Given the description of an element on the screen output the (x, y) to click on. 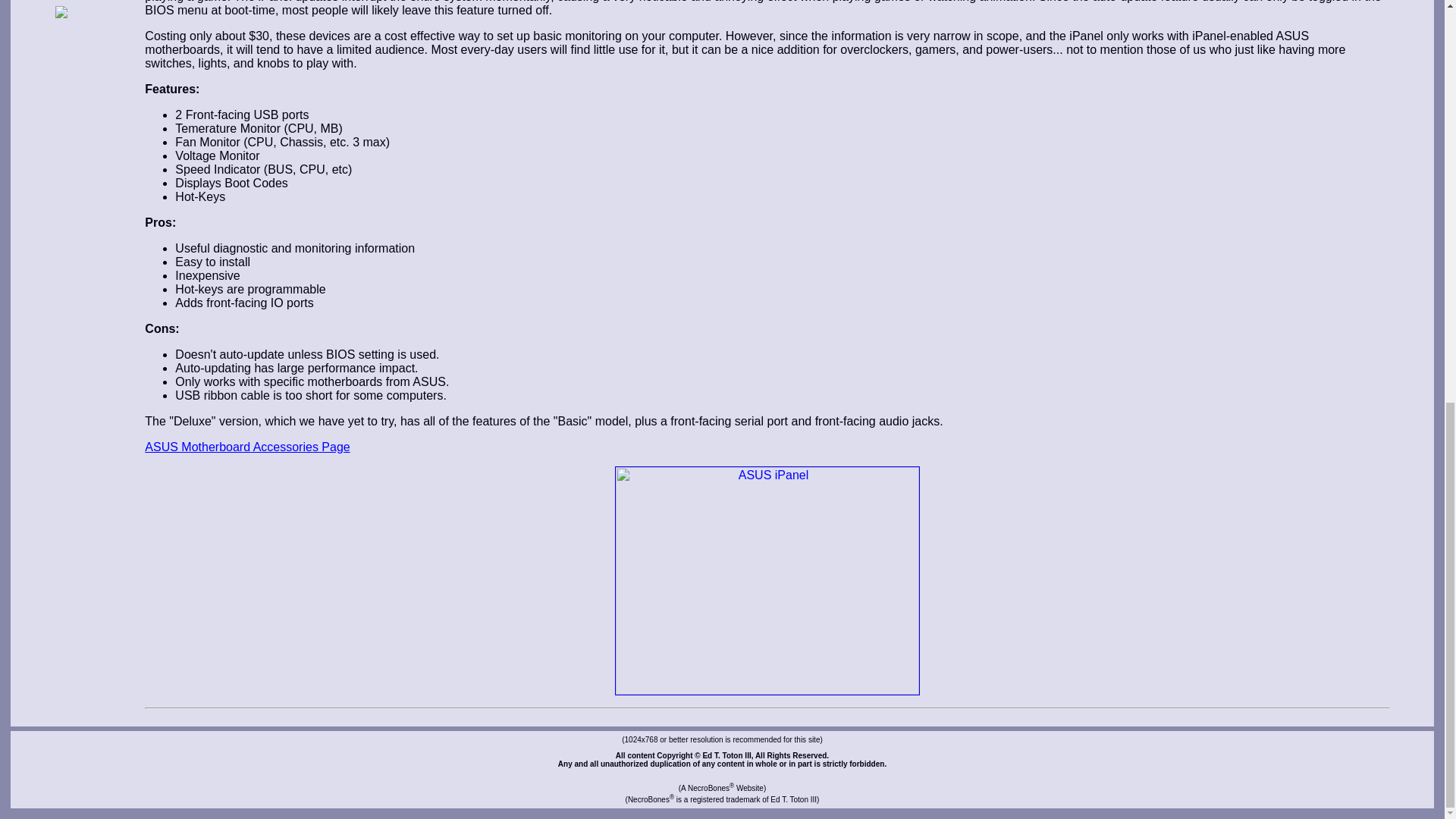
ASUS Motherboard Accessories Page (246, 446)
